Given the description of an element on the screen output the (x, y) to click on. 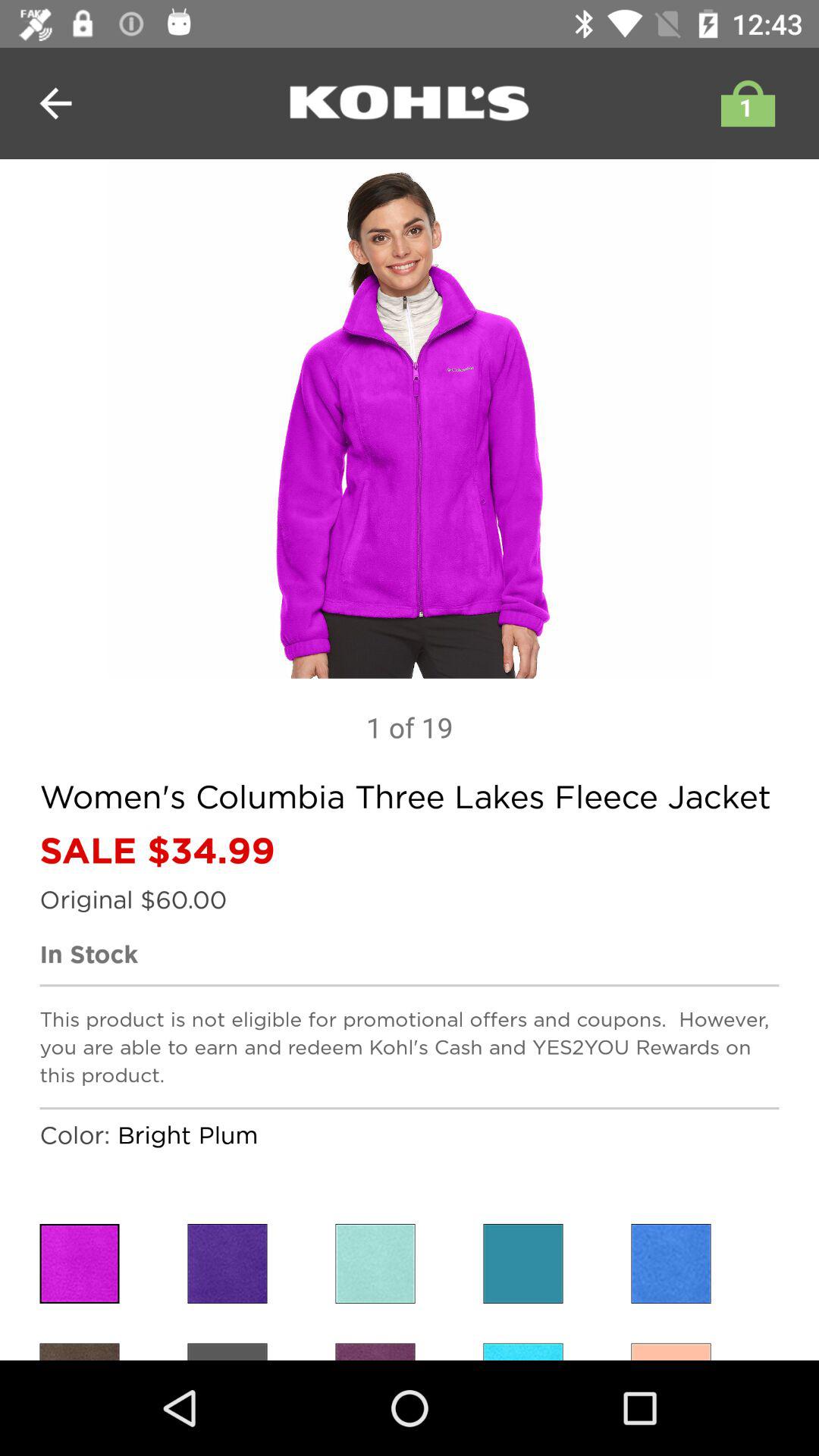
choose color (375, 1263)
